Given the description of an element on the screen output the (x, y) to click on. 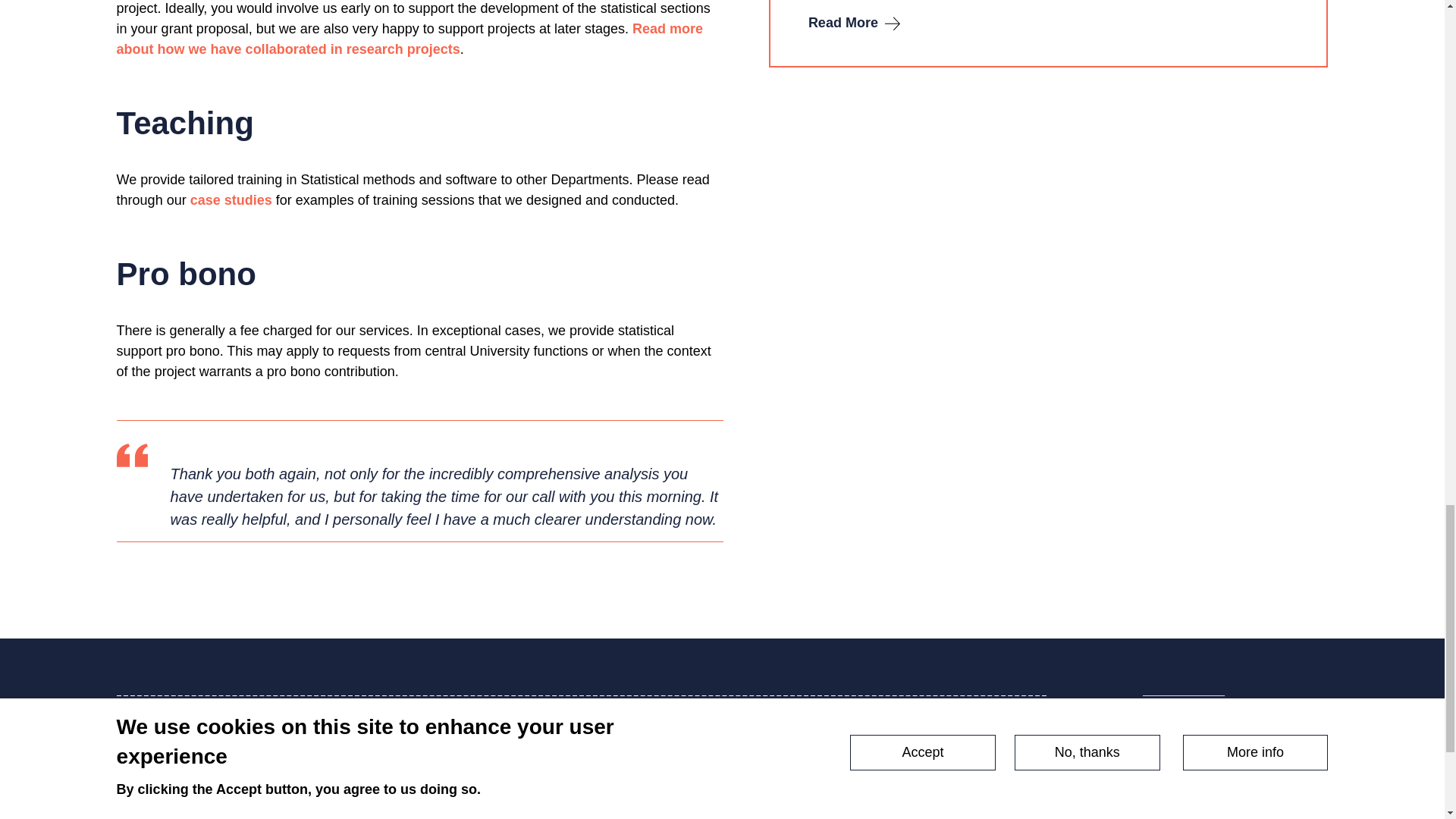
case studies (231, 200)
Undergraduate study (180, 792)
Intranet (371, 812)
Masters (140, 812)
IT Users (374, 792)
